Given the description of an element on the screen output the (x, y) to click on. 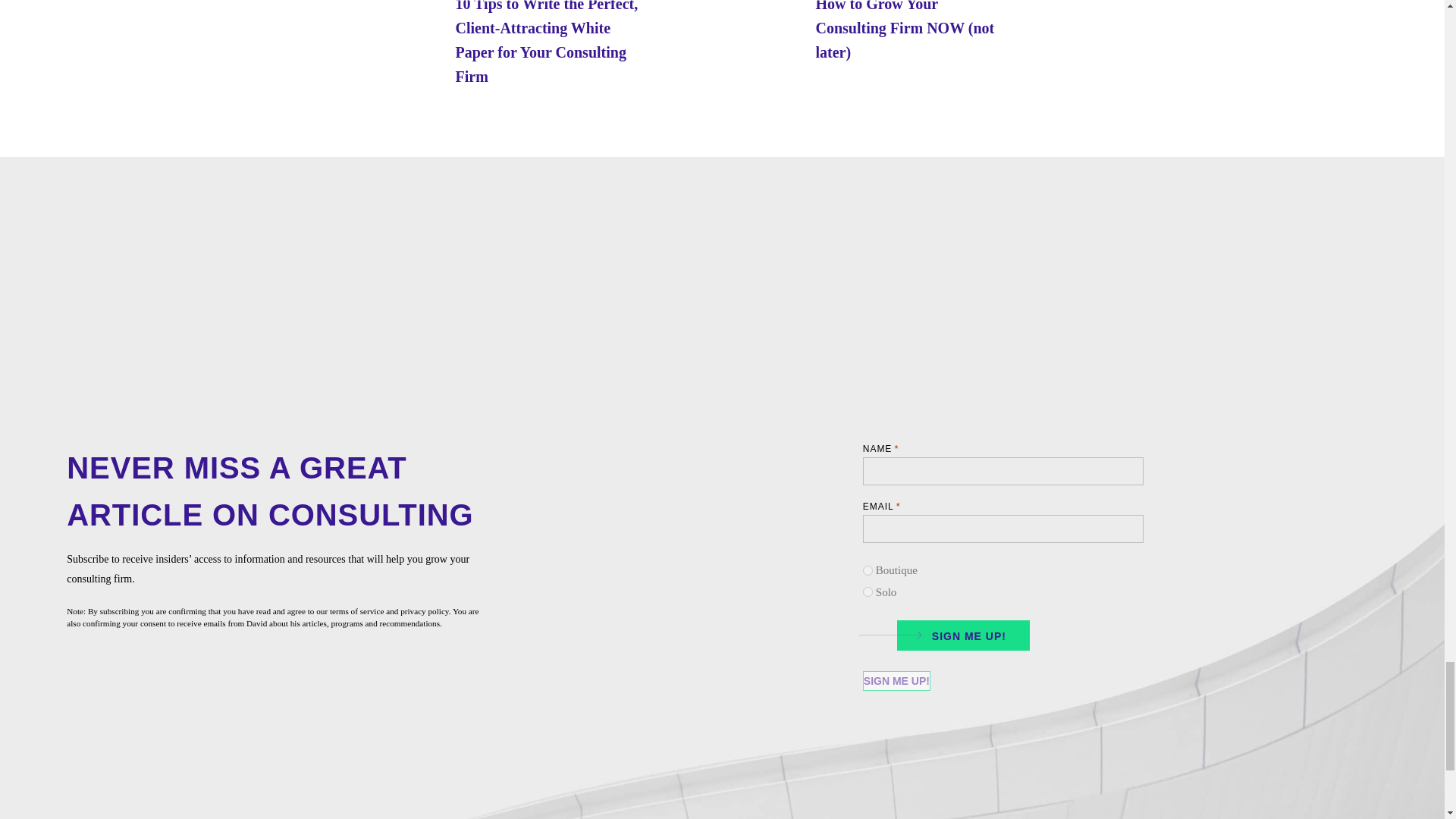
Sign Me Up! (896, 680)
Boutique (867, 570)
SIGN ME UP! (957, 634)
Sign Me Up! (896, 680)
Solo (867, 592)
